Given the description of an element on the screen output the (x, y) to click on. 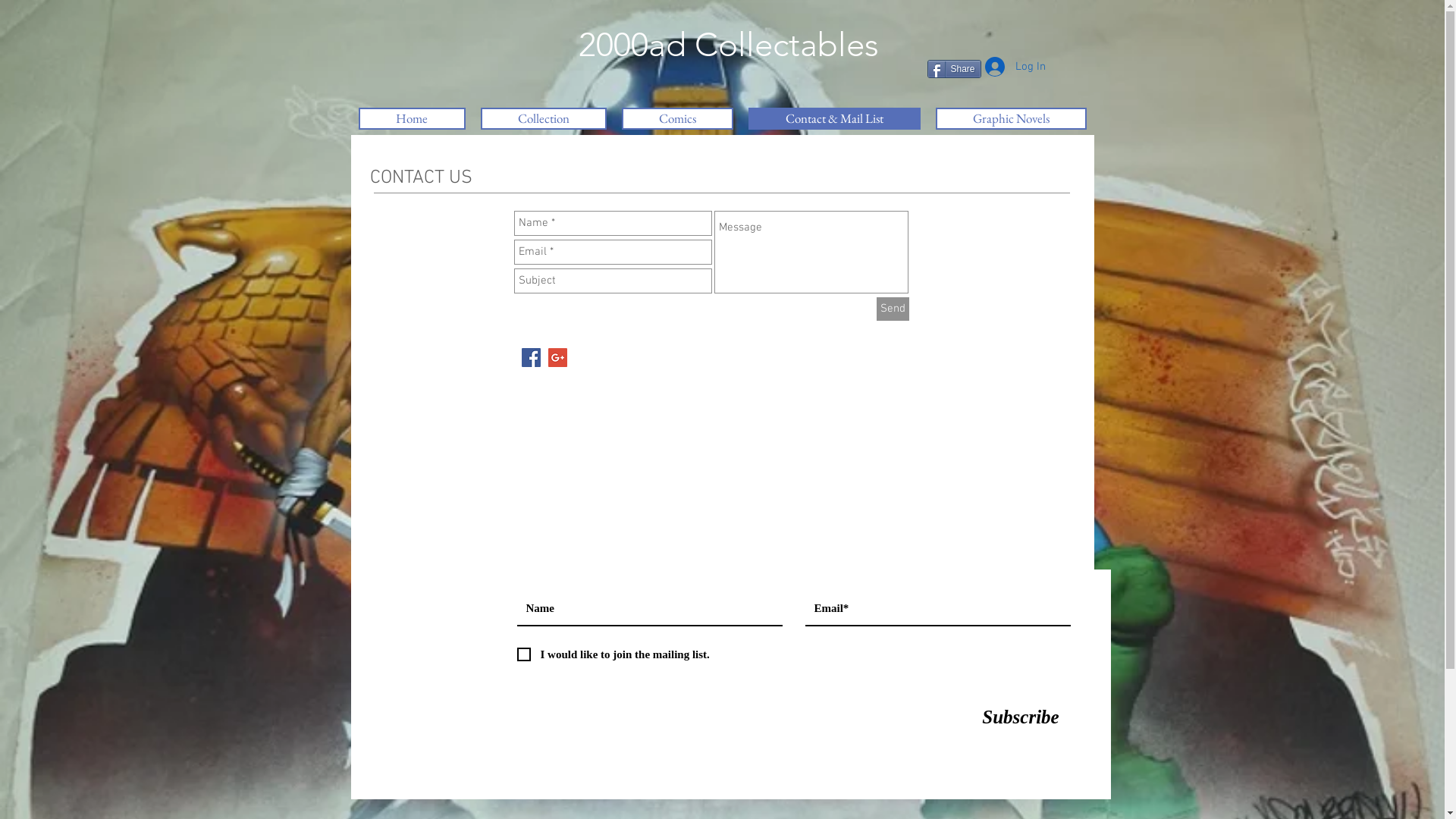
Comics Element type: text (677, 118)
Log In Element type: text (1014, 66)
Google Maps Element type: hover (793, 460)
Subscribe Element type: text (1021, 716)
Graphic Novels Element type: text (1010, 118)
Collection Element type: text (543, 118)
Home Element type: text (410, 118)
Share Element type: text (953, 68)
Contact & Mail List Element type: text (833, 118)
Send Element type: text (892, 308)
